Given the description of an element on the screen output the (x, y) to click on. 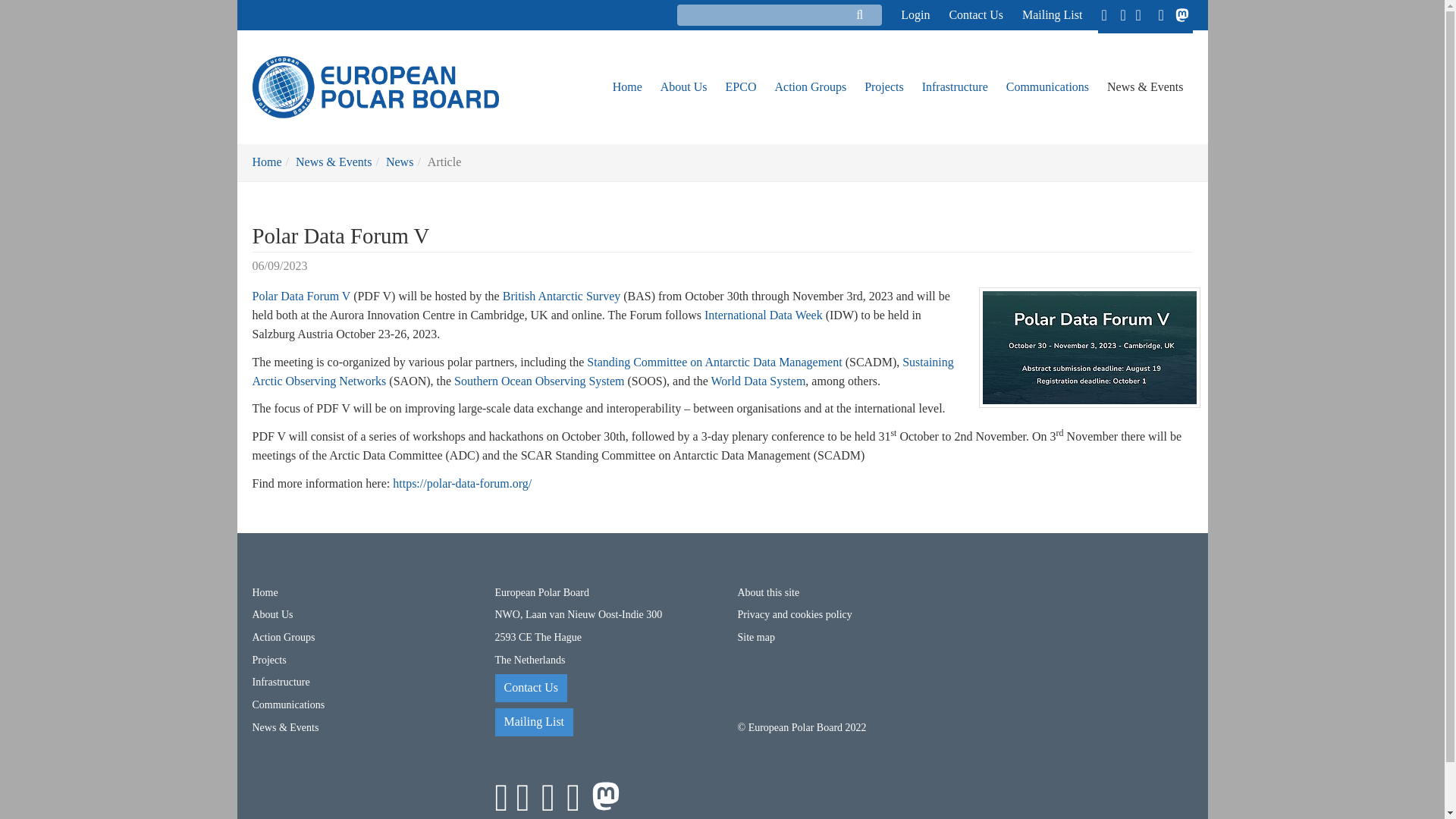
Contact Us (966, 14)
Login (900, 14)
Mailing List (1043, 14)
